Given the description of an element on the screen output the (x, y) to click on. 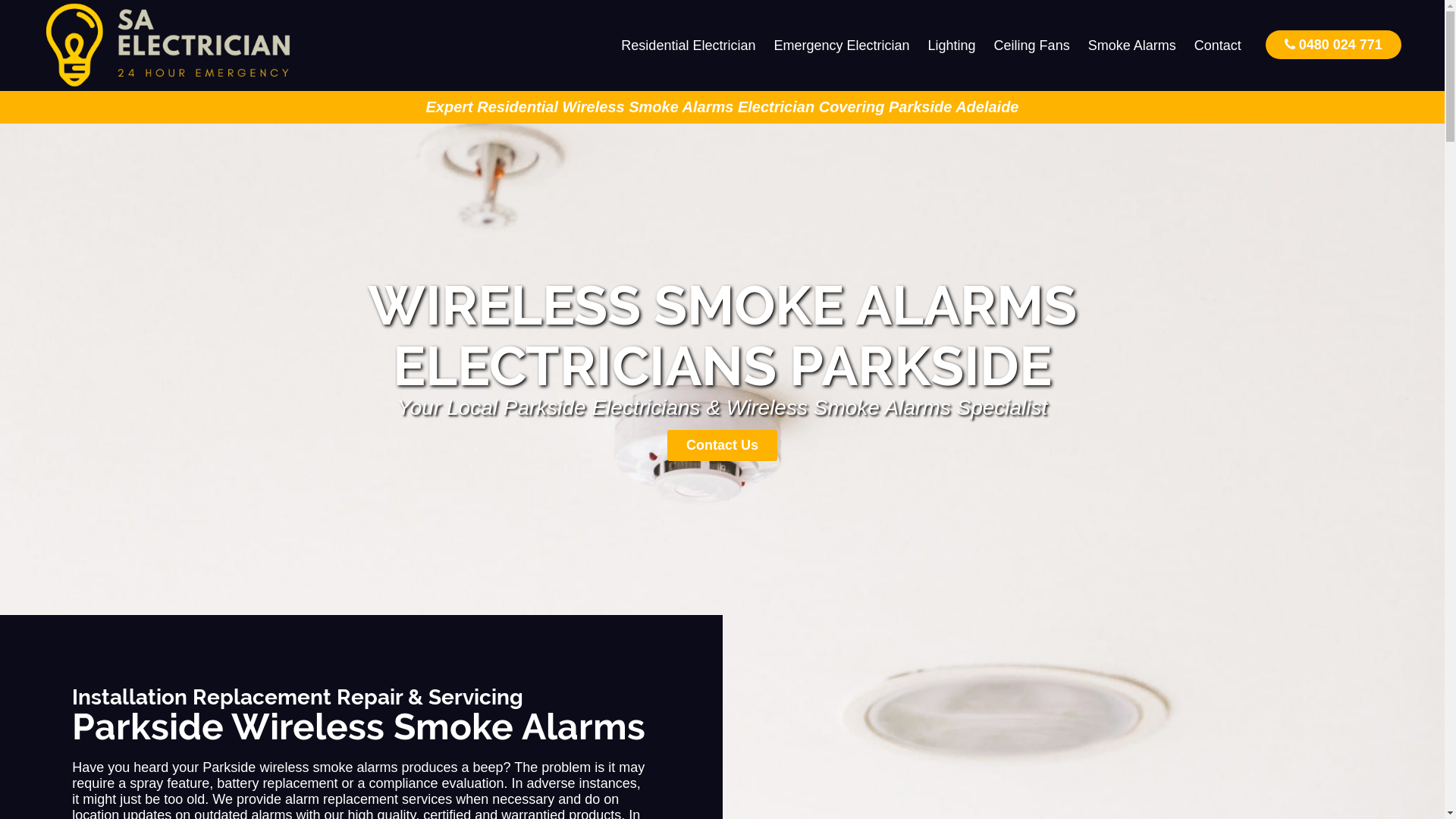
Residential Electrician Element type: text (687, 45)
Emergency Electrician Element type: text (841, 45)
0480 024 771 Element type: text (1333, 44)
Lighting Element type: text (952, 45)
Contact Element type: text (1217, 45)
Contact Us Element type: text (722, 445)
Smoke Alarms Element type: text (1132, 45)
Ceiling Fans Element type: text (1032, 45)
